Given the description of an element on the screen output the (x, y) to click on. 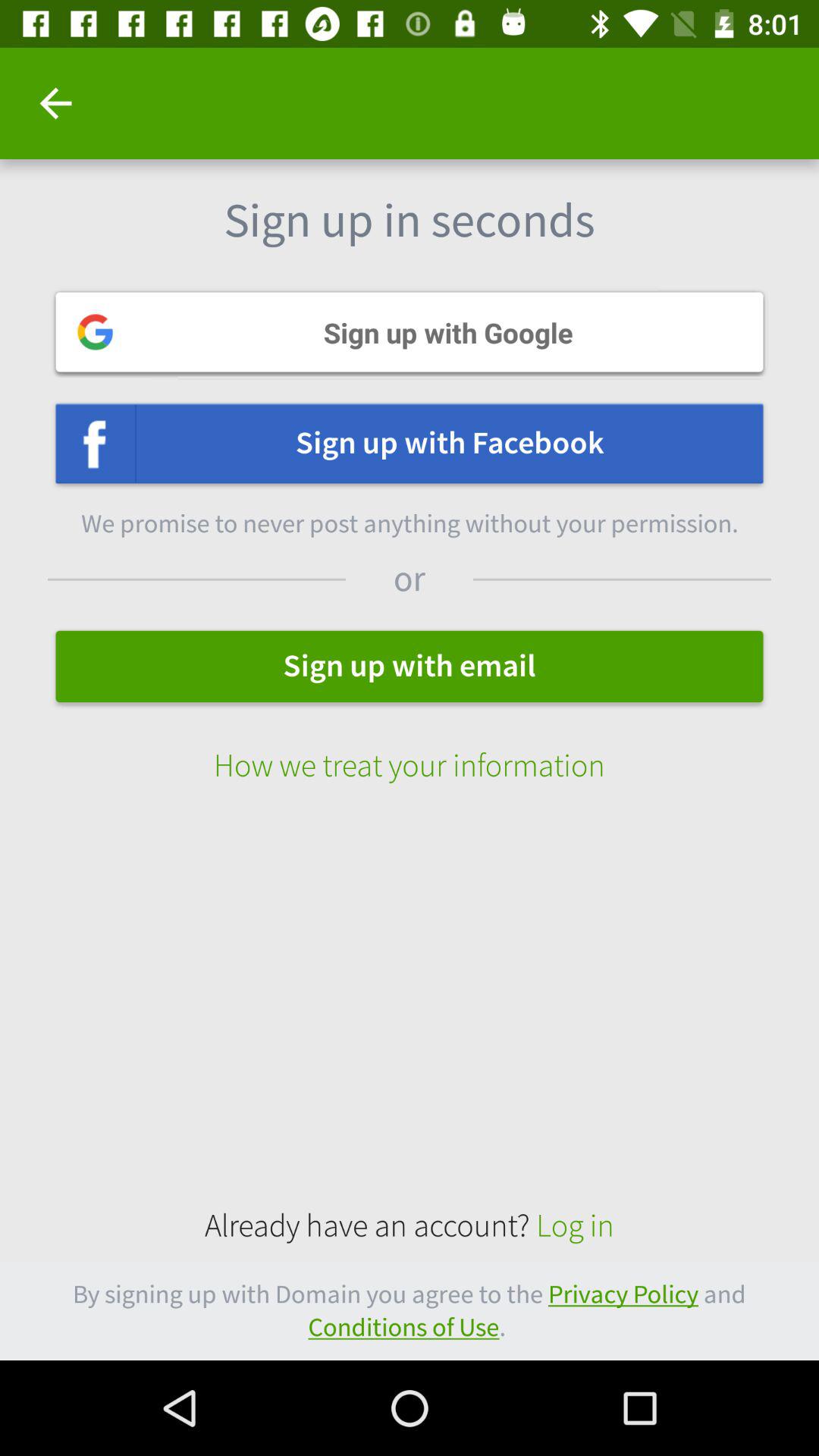
turn off item below sign up with item (409, 750)
